Given the description of an element on the screen output the (x, y) to click on. 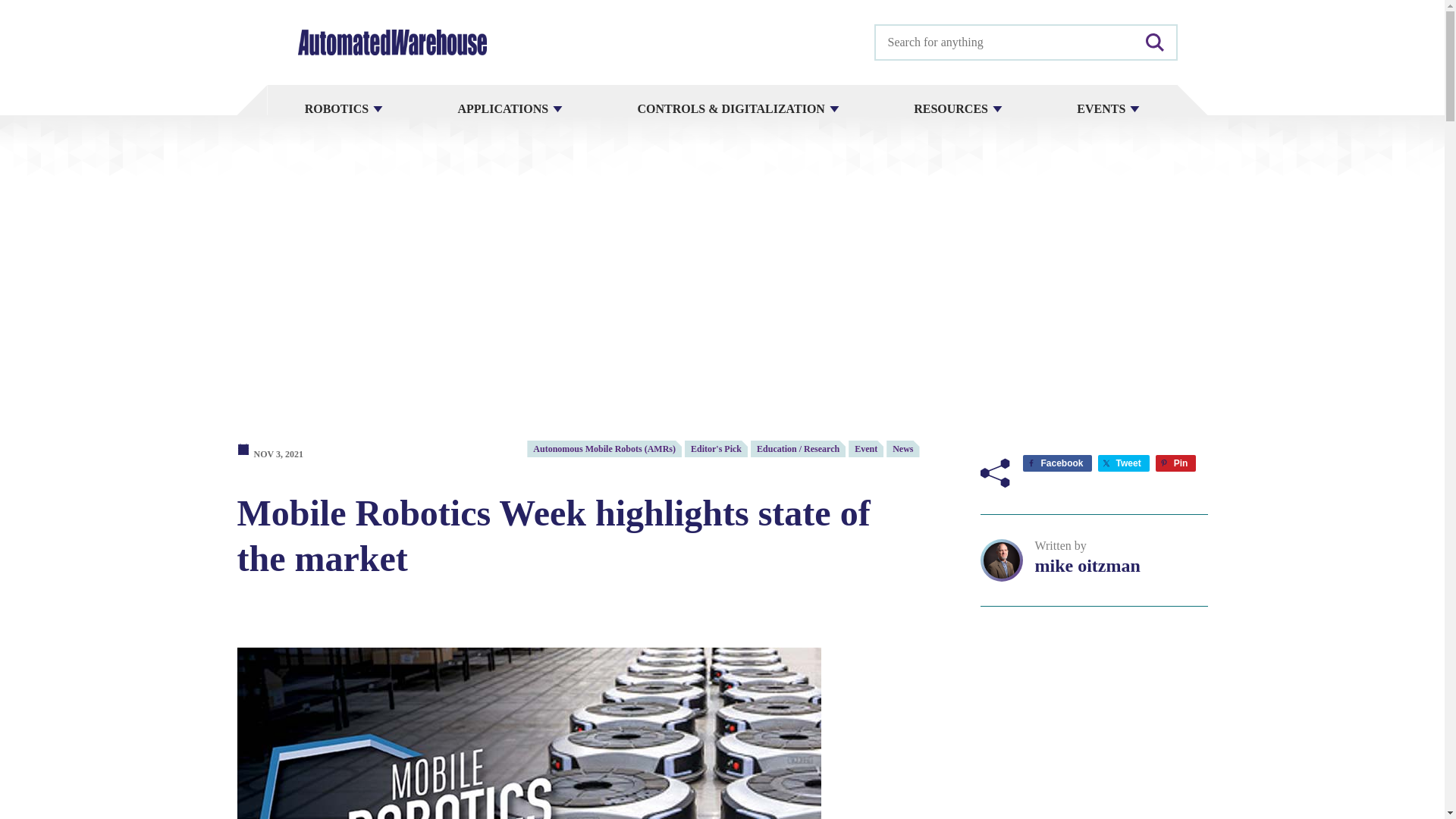
3rd party ad content (1093, 724)
Share on Pinterest (1176, 463)
Share on Facebook (1056, 463)
APPLICATIONS (509, 109)
Share on Twitter (1123, 463)
3rd party ad content (721, 323)
ROBOTICS (343, 109)
